Given the description of an element on the screen output the (x, y) to click on. 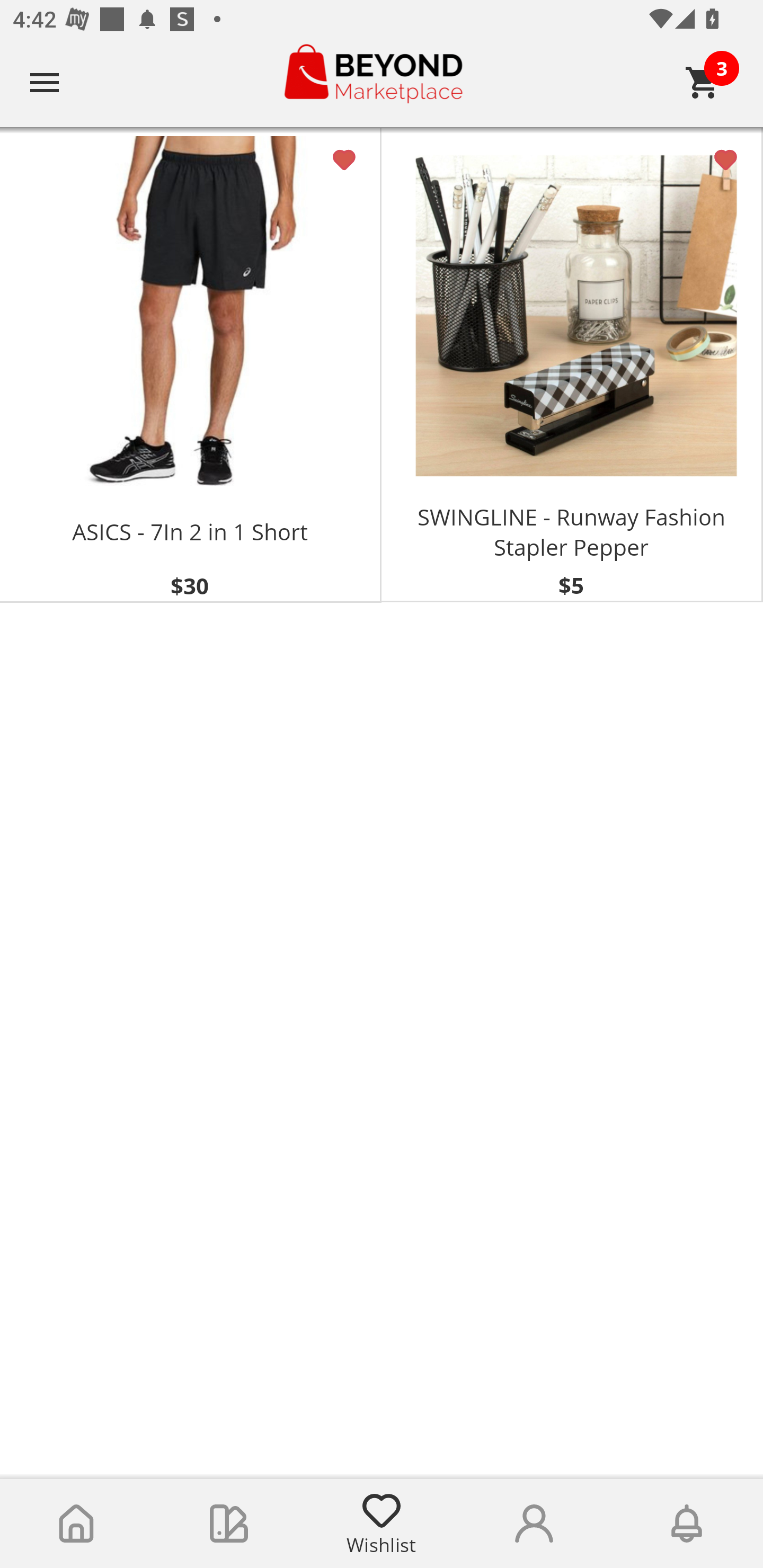
Navigate up (44, 82)
ASICS - 7In 2 in 1 Short $30 (190, 365)
SWINGLINE - Runway Fashion Stapler Pepper $5 (572, 365)
Home (76, 1523)
Collections (228, 1523)
Account (533, 1523)
Notifications (686, 1523)
